Given the description of an element on the screen output the (x, y) to click on. 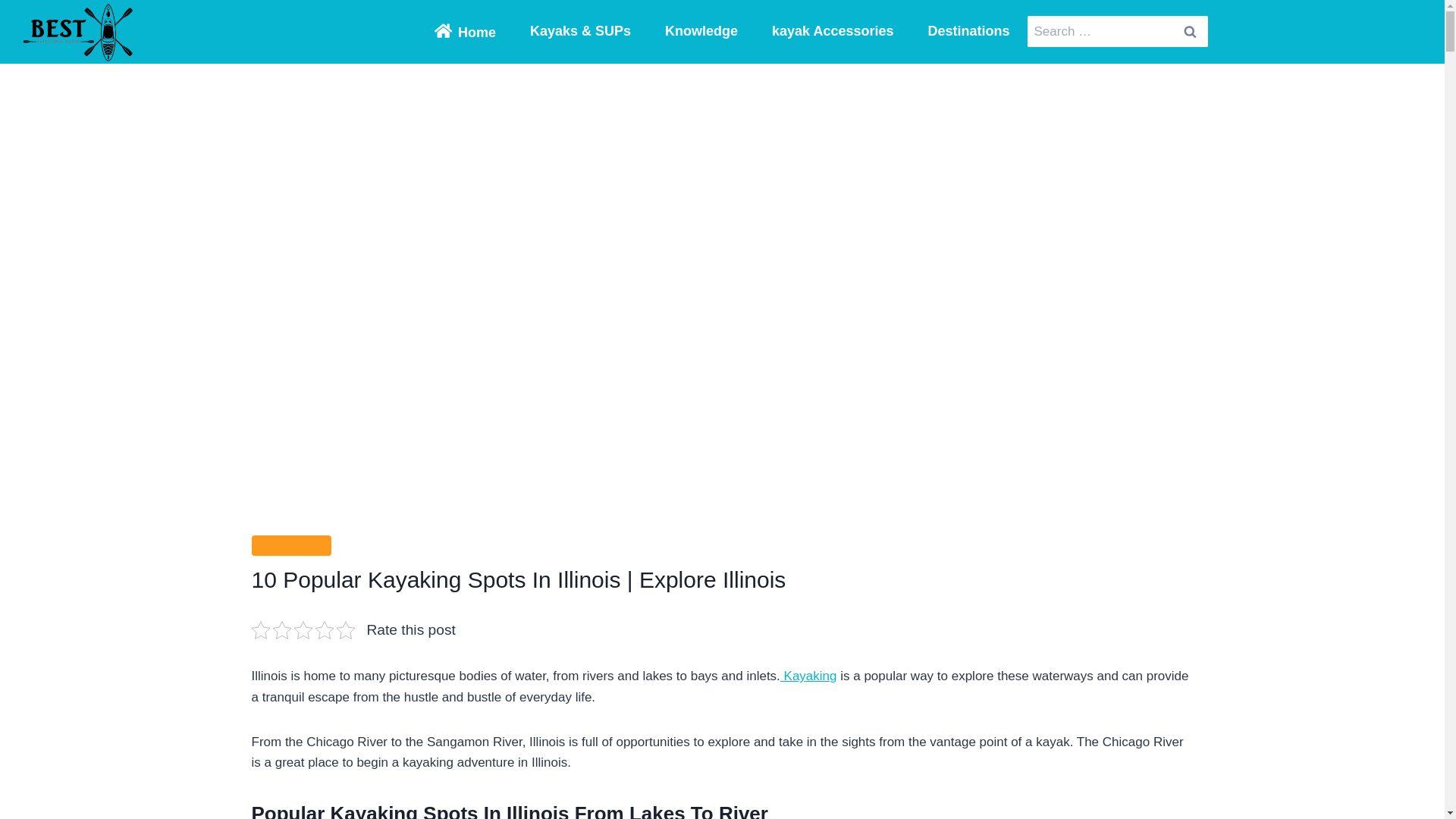
kayak Accessories (833, 31)
Destinations (968, 31)
Search (1189, 31)
Kayaking (808, 676)
Knowledge (700, 31)
Search (1189, 31)
Search (1189, 31)
Home (464, 31)
Destinations (291, 545)
